Given the description of an element on the screen output the (x, y) to click on. 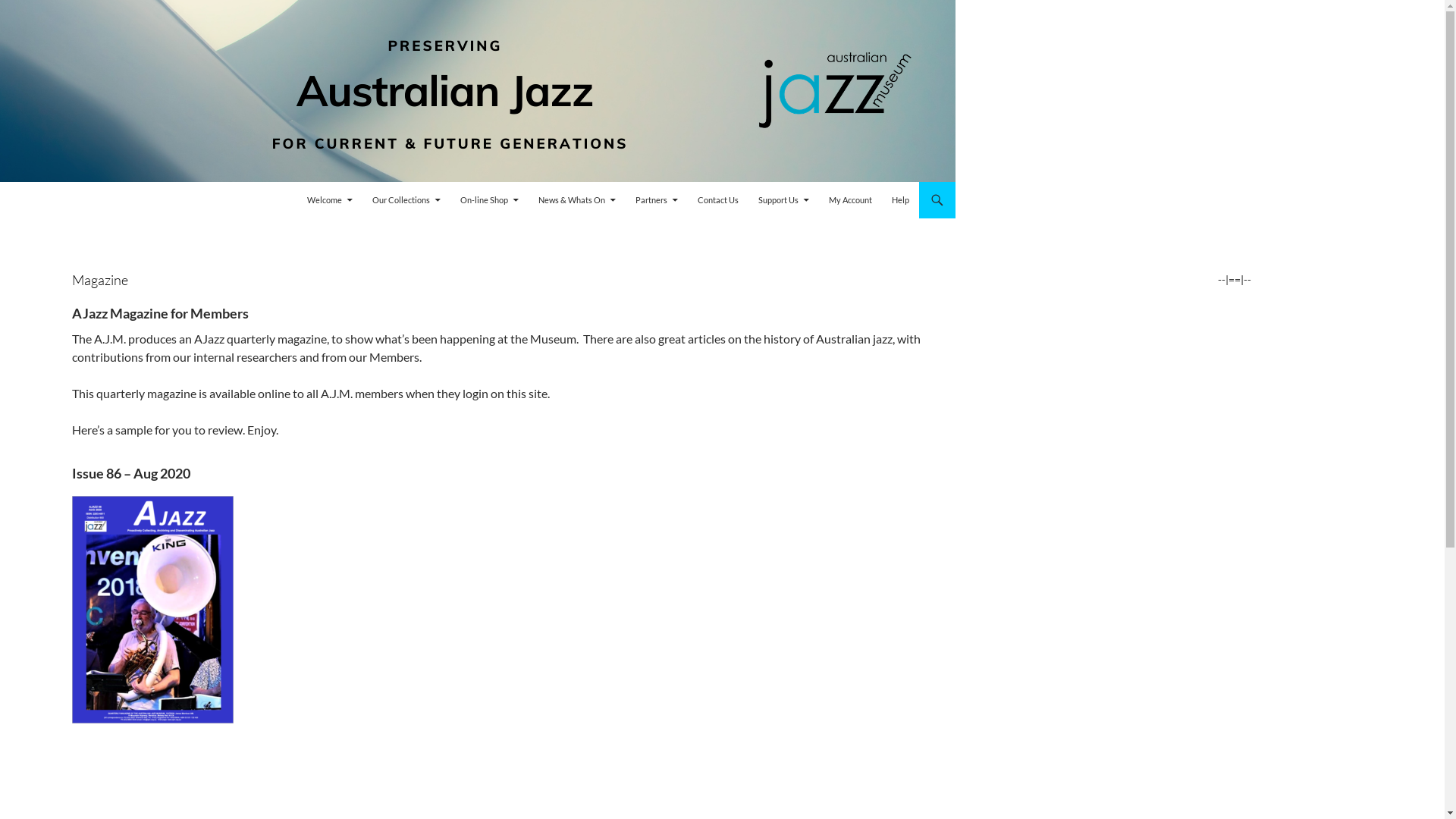
Skip to content Element type: text (306, 181)
Partners Element type: text (656, 200)
News & Whats On Element type: text (576, 200)
On-line Shop Element type: text (489, 200)
Support Us Element type: text (783, 200)
Welcome Element type: text (329, 200)
Our Collections Element type: text (406, 200)
Contact Us Element type: text (717, 200)
Search Element type: text (3, 181)
Help Element type: text (900, 200)
Australian Jazz Museum Element type: text (95, 200)
My Account Element type: text (850, 200)
